Given the description of an element on the screen output the (x, y) to click on. 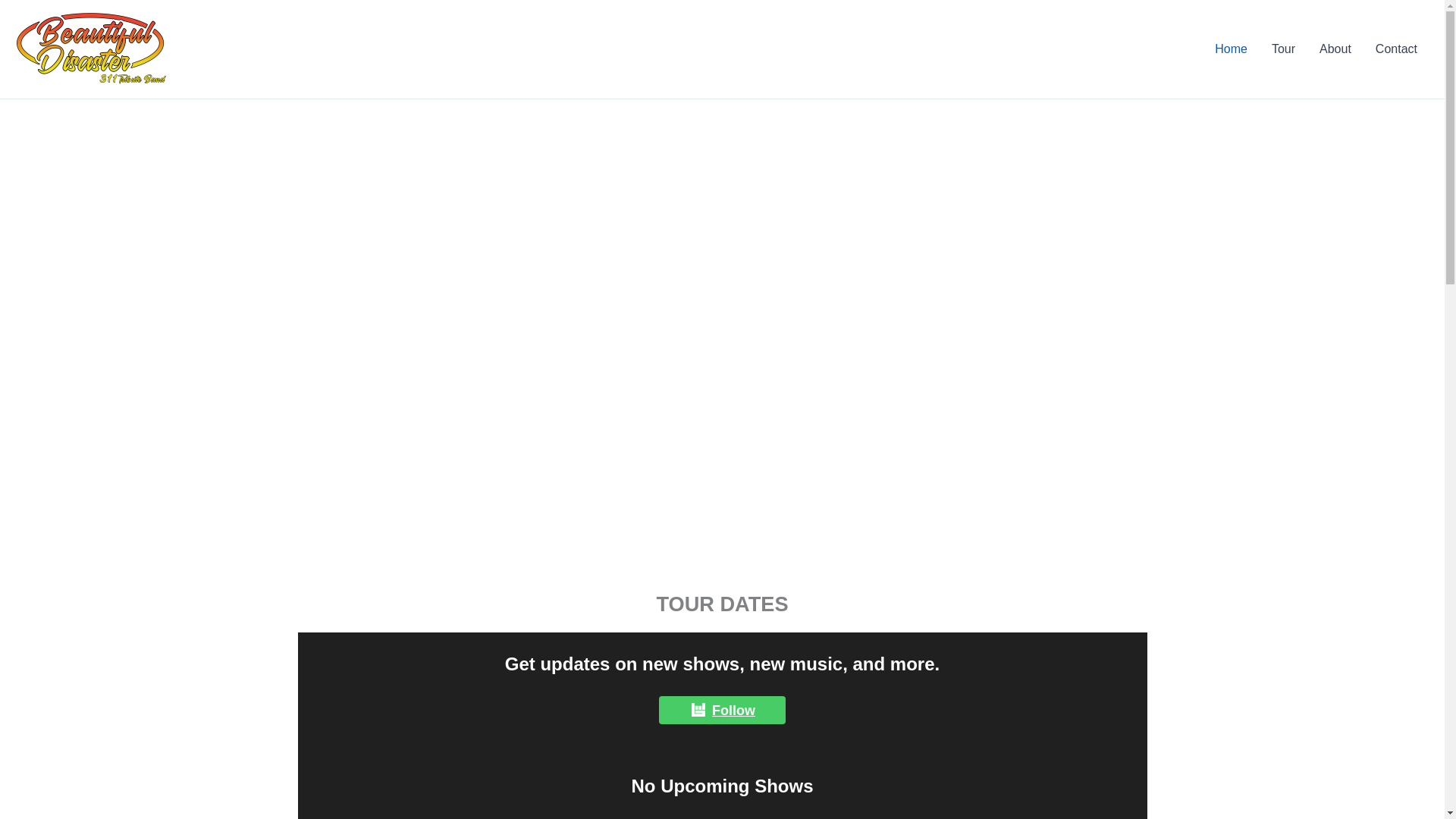
About (1334, 48)
Follow (722, 709)
Home (1230, 48)
Contact (1395, 48)
